Given the description of an element on the screen output the (x, y) to click on. 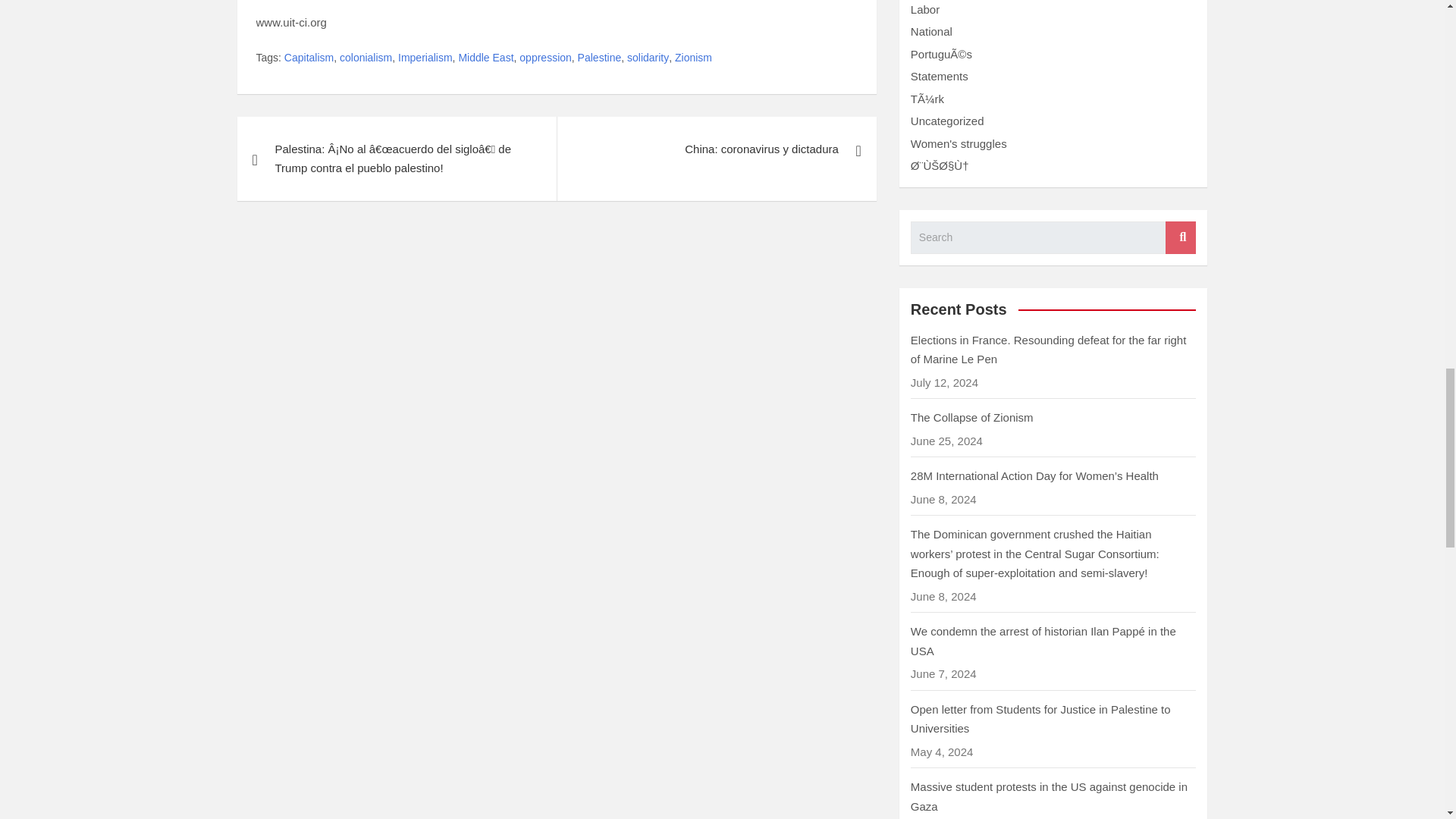
Zionism (693, 58)
China: coronavirus y dictadura (716, 149)
Middle East (485, 58)
colonialism (365, 58)
oppression (545, 58)
solidarity (647, 58)
Palestine (599, 58)
Imperialism (424, 58)
Capitalism (308, 58)
